Given the description of an element on the screen output the (x, y) to click on. 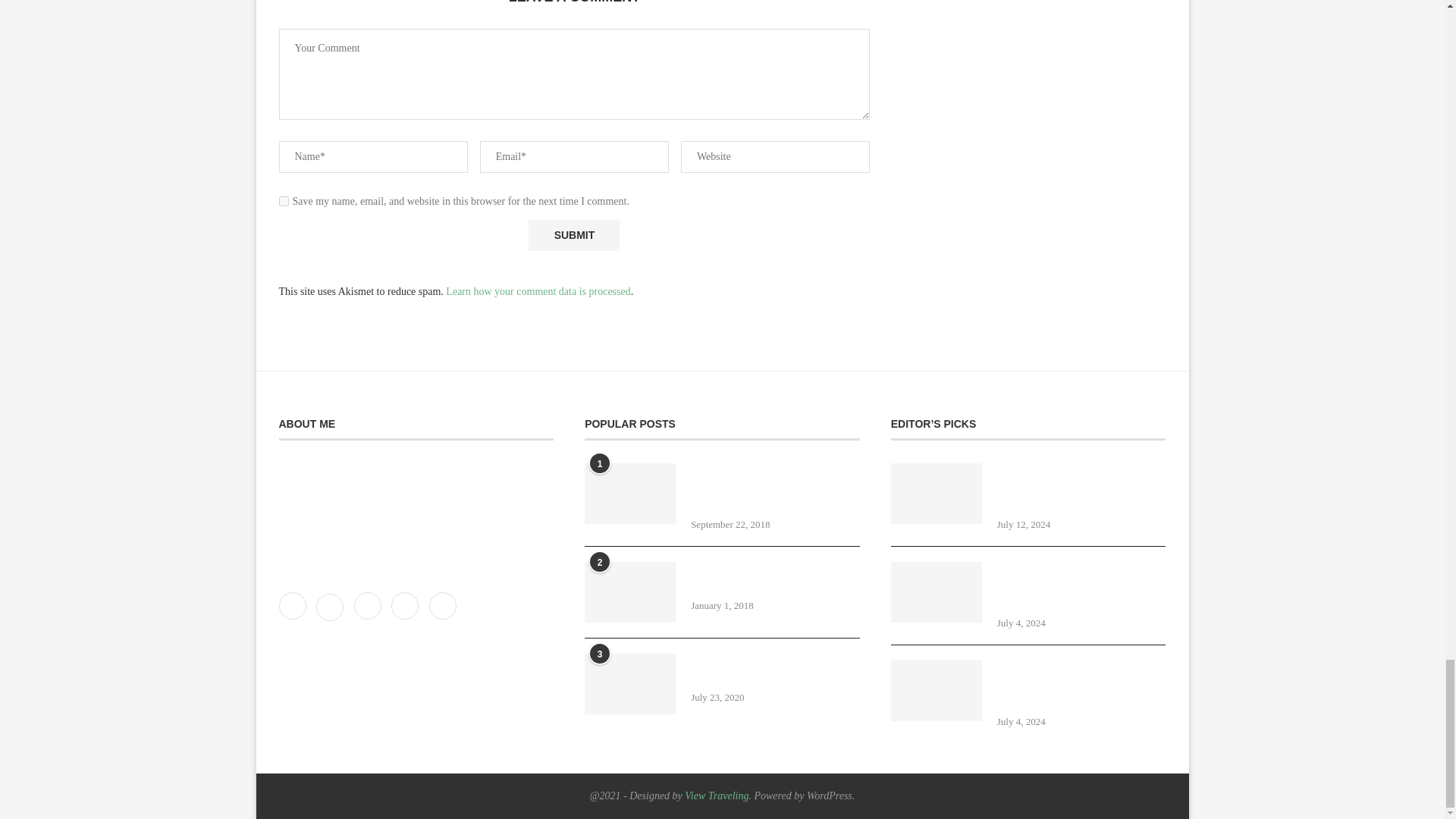
Submit (574, 235)
yes (283, 201)
